Given the description of an element on the screen output the (x, y) to click on. 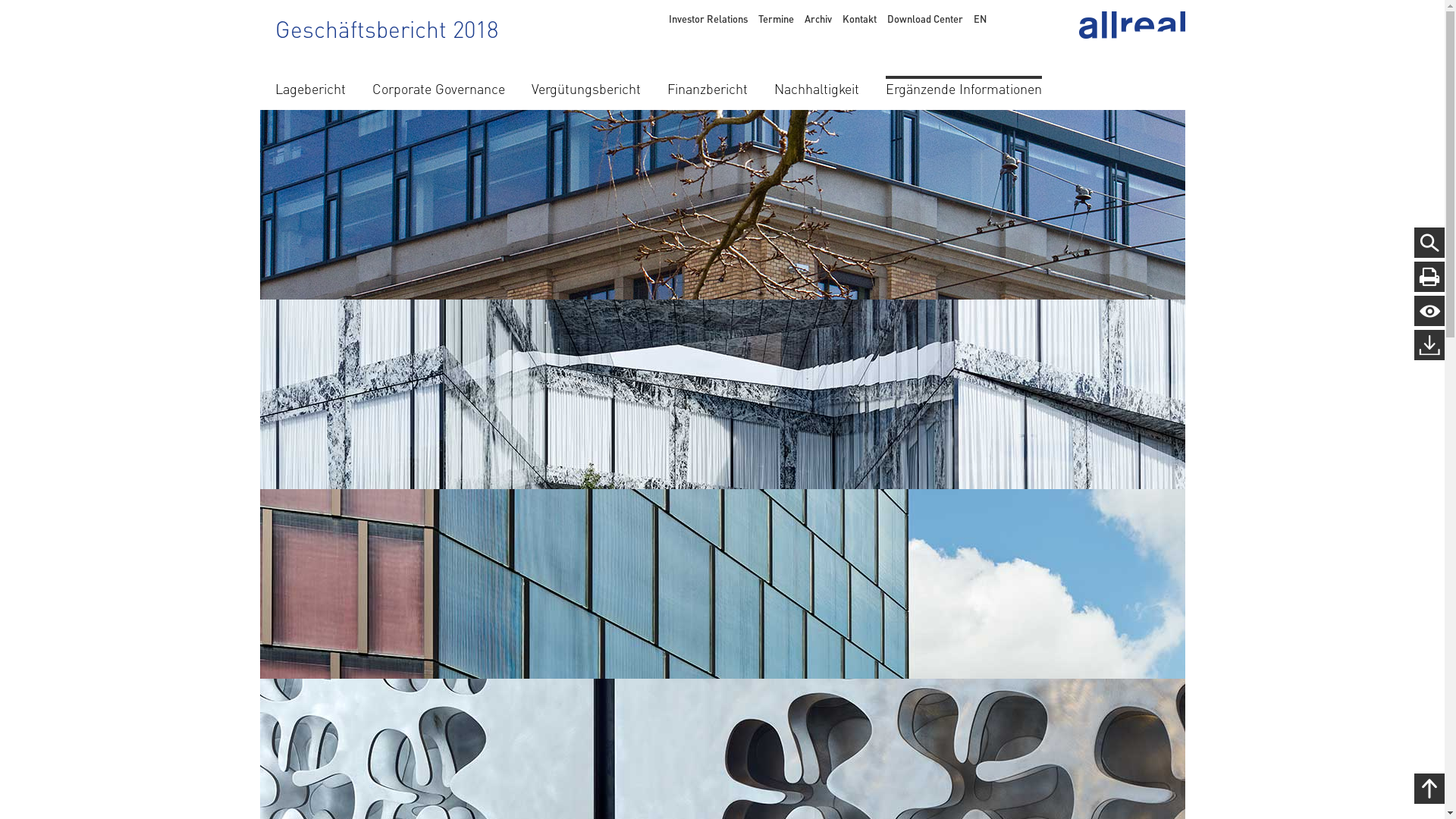
Finanzbericht Element type: text (707, 86)
Kontakt Element type: text (858, 18)
Download Center Element type: text (925, 18)
EN Element type: text (979, 18)
Nachhaltigkeit Element type: text (815, 86)
Termine Element type: text (775, 18)
Investor Relations Element type: text (707, 18)
Archiv Element type: text (817, 18)
Lagebericht Element type: text (309, 86)
Corporate Governance Element type: text (437, 86)
Suchen Element type: text (13, 7)
